Given the description of an element on the screen output the (x, y) to click on. 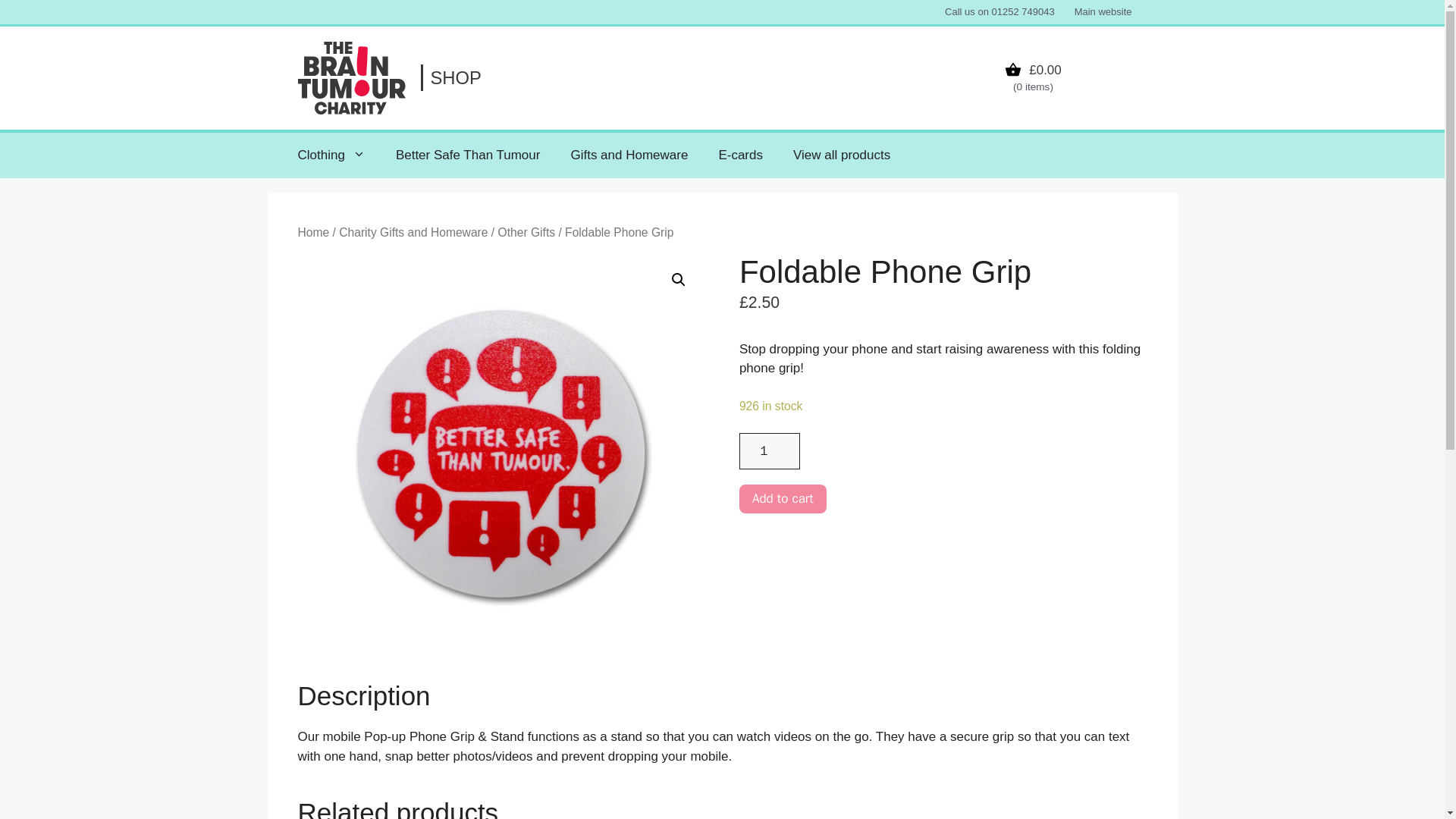
Gifts and Homeware (628, 154)
E-cards (740, 154)
1 (769, 451)
Better Safe Than Tumour (468, 154)
Charity Gifts and Homeware (413, 232)
Clothing (331, 154)
Other Gifts (526, 232)
Home (313, 232)
Add to cart (783, 498)
01252 749043 (1022, 11)
